Given the description of an element on the screen output the (x, y) to click on. 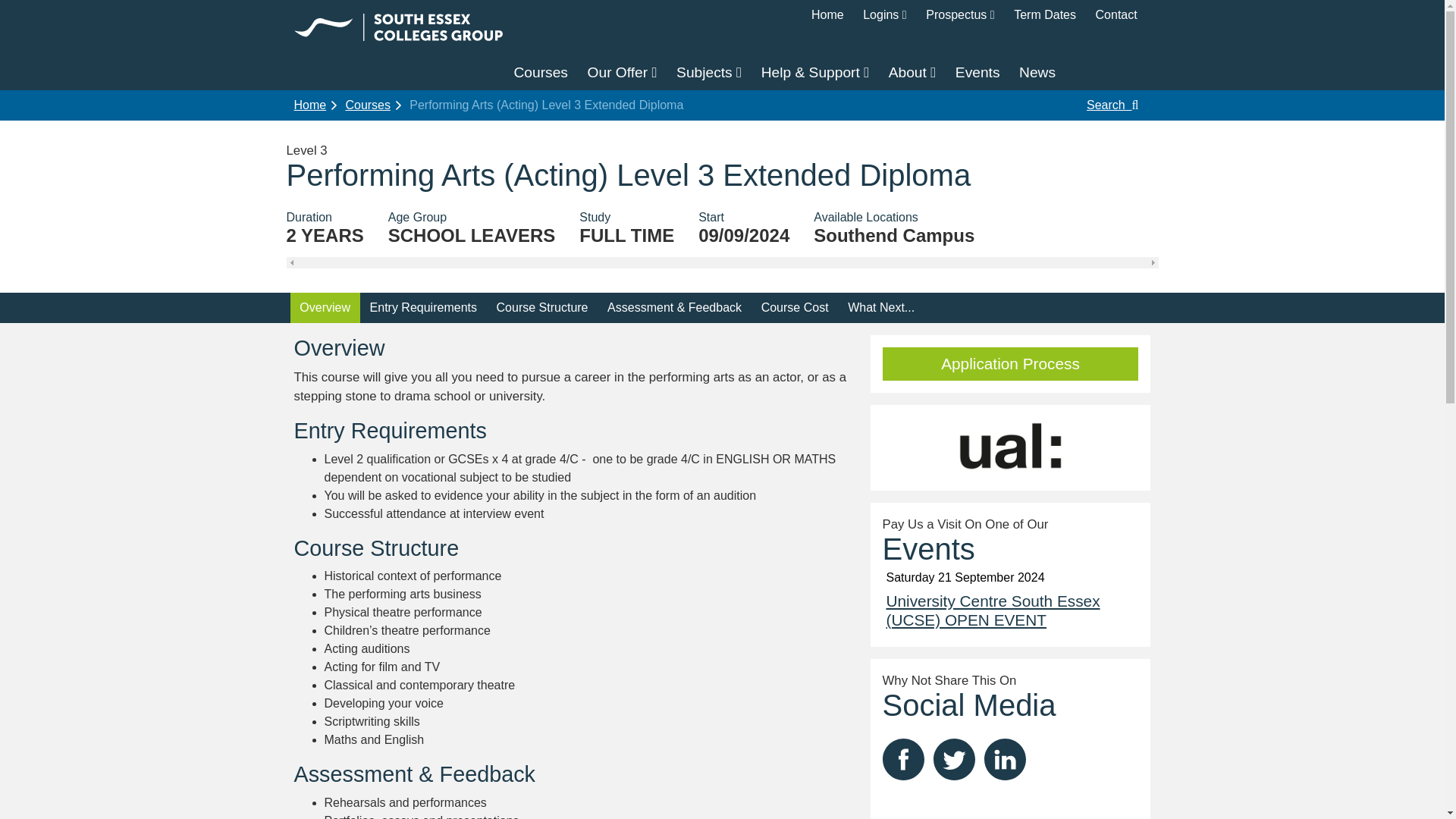
Events (977, 73)
Our Offer (623, 73)
News (1037, 73)
Term Dates (1044, 14)
Subjects (709, 73)
Home (827, 14)
About (912, 73)
Courses (540, 73)
Contact (1116, 14)
Prospectus (960, 14)
Logins (884, 14)
